Given the description of an element on the screen output the (x, y) to click on. 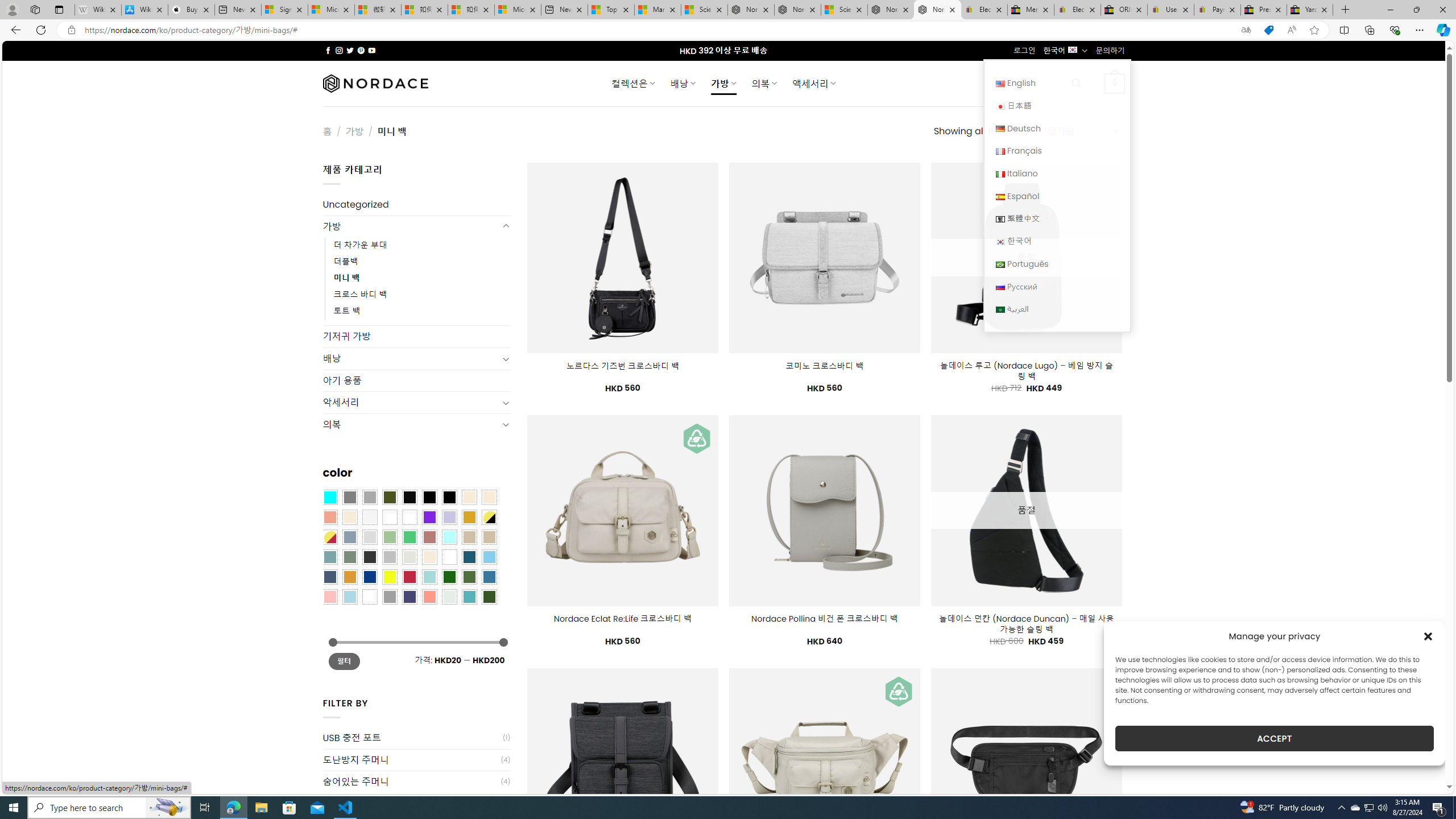
  0   (1115, 83)
